Given the description of an element on the screen output the (x, y) to click on. 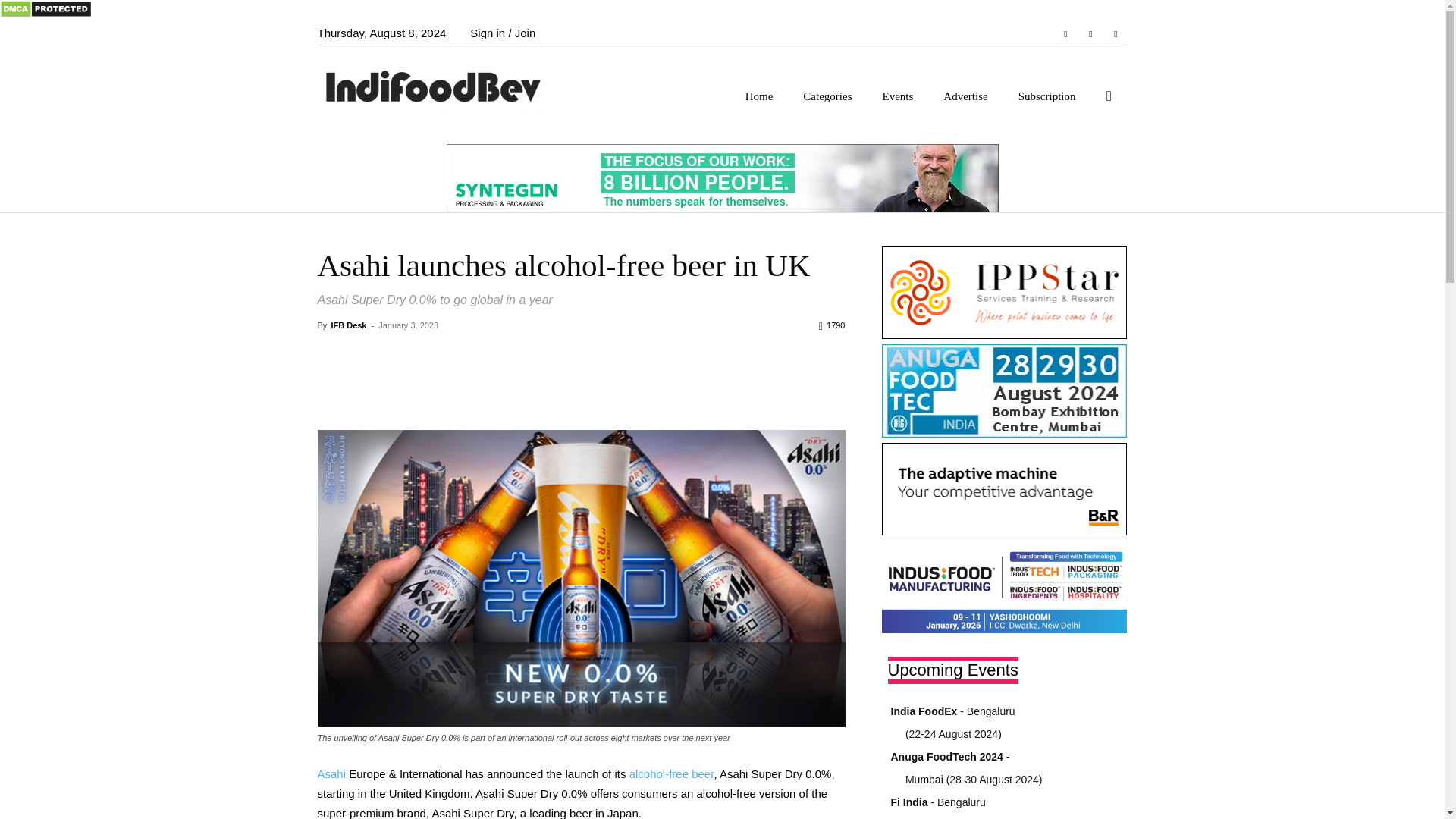
DMCA.com Protection Status (45, 14)
topFacebookLike (430, 352)
Facebook (1065, 33)
Linkedin (1090, 33)
Twitter (1114, 33)
IndiFoodBev (438, 85)
